Given the description of an element on the screen output the (x, y) to click on. 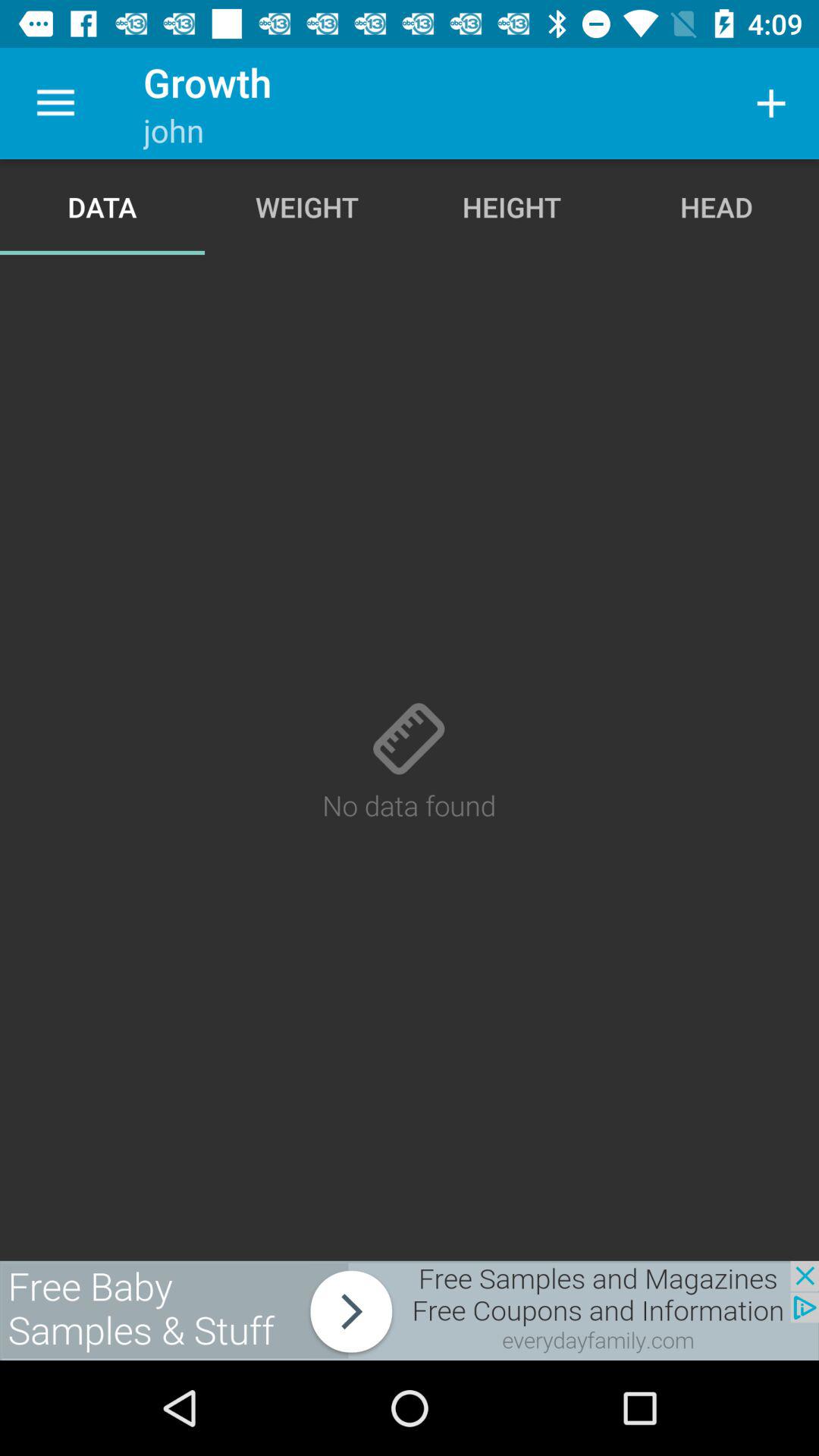
go to the advertisement (409, 1310)
